Given the description of an element on the screen output the (x, y) to click on. 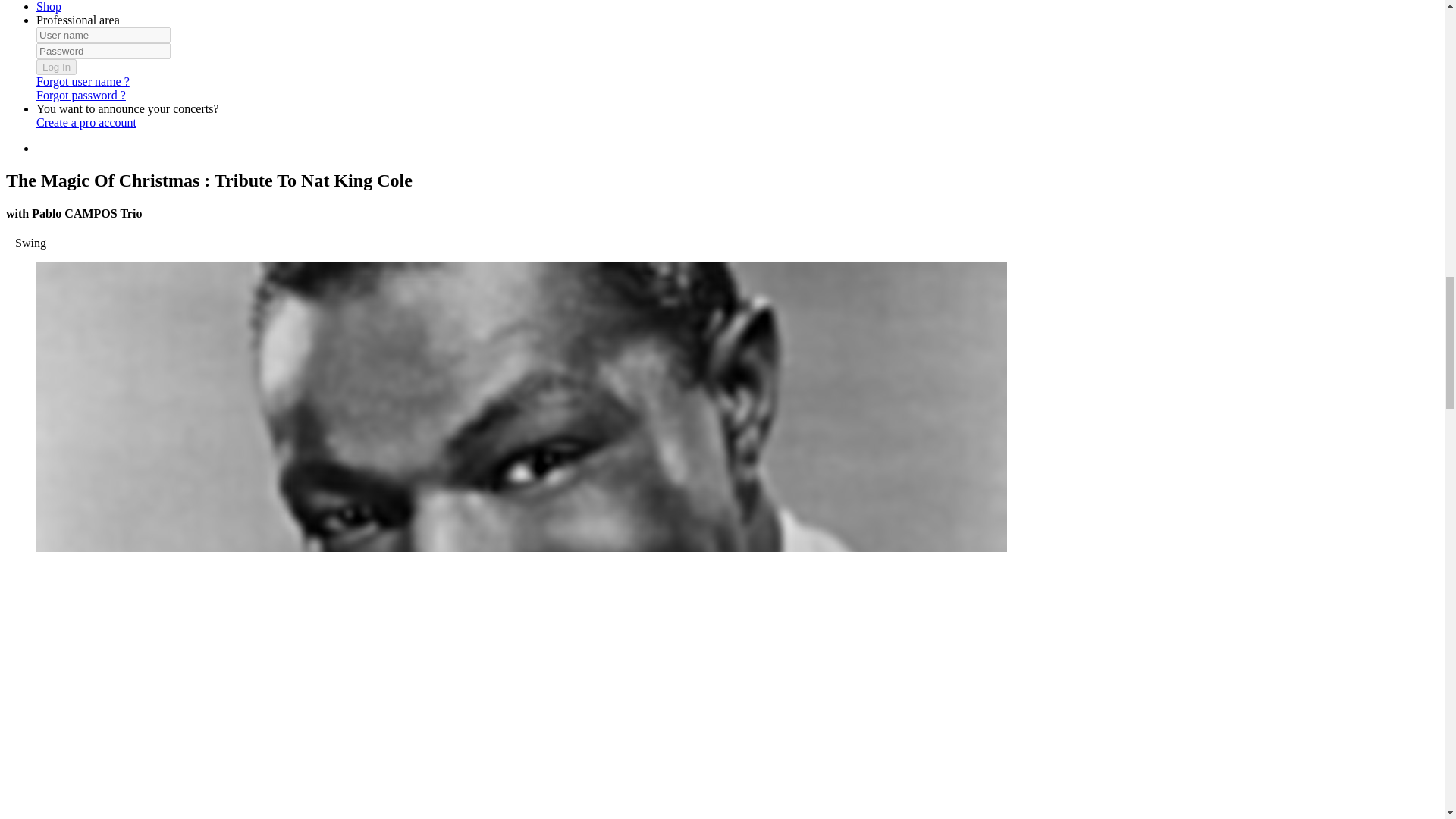
Log In (56, 66)
Forgot password ? (80, 94)
Forgot user name ? (82, 81)
Create a pro account (86, 122)
Shop (48, 6)
